Given the description of an element on the screen output the (x, y) to click on. 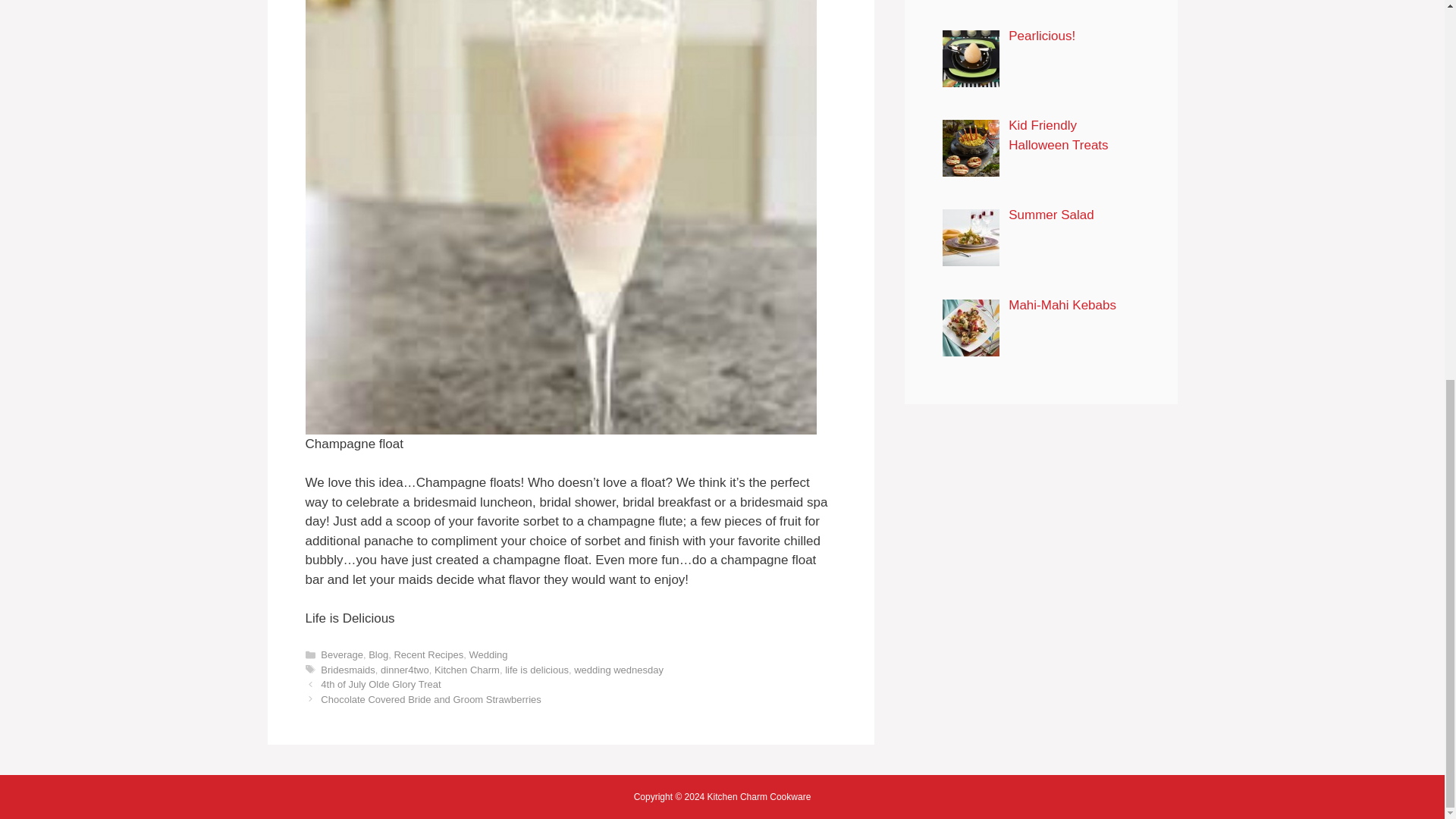
Previous (380, 684)
Next (430, 699)
